Given the description of an element on the screen output the (x, y) to click on. 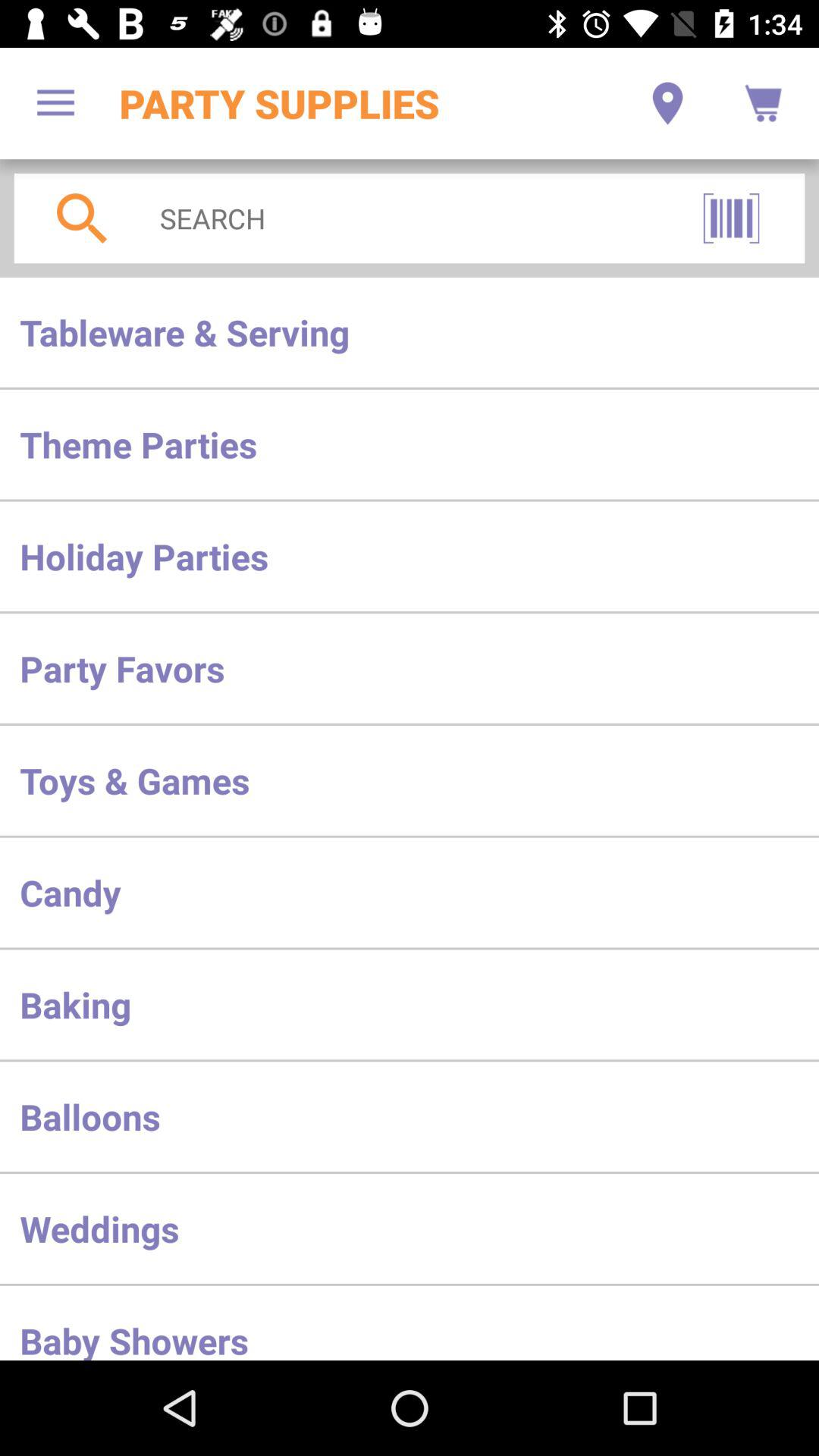
flip to the weddings (409, 1228)
